Given the description of an element on the screen output the (x, y) to click on. 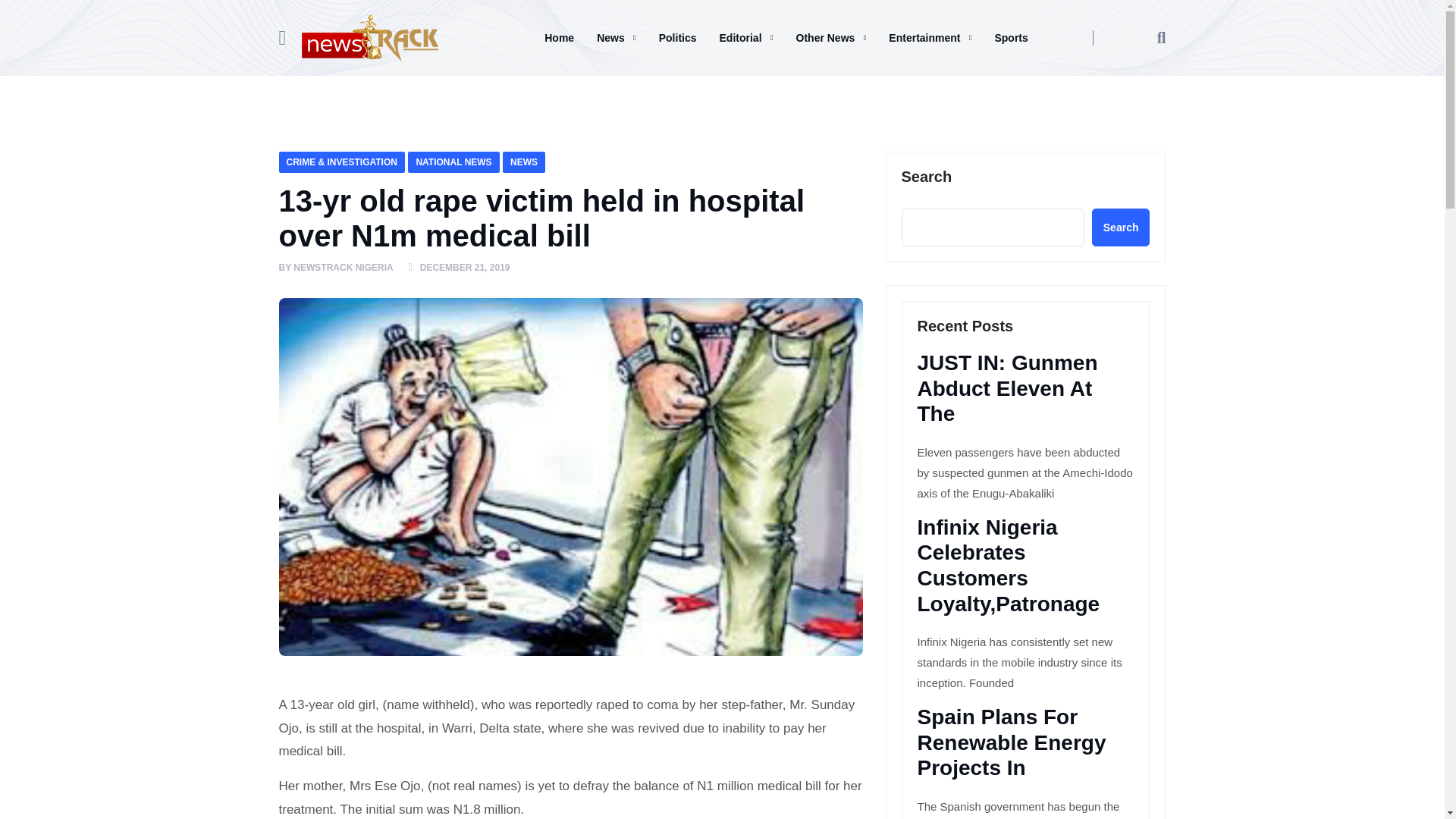
News (616, 37)
Entertainment (929, 37)
Editorial (745, 37)
Politics (677, 37)
Other News (830, 37)
